Given the description of an element on the screen output the (x, y) to click on. 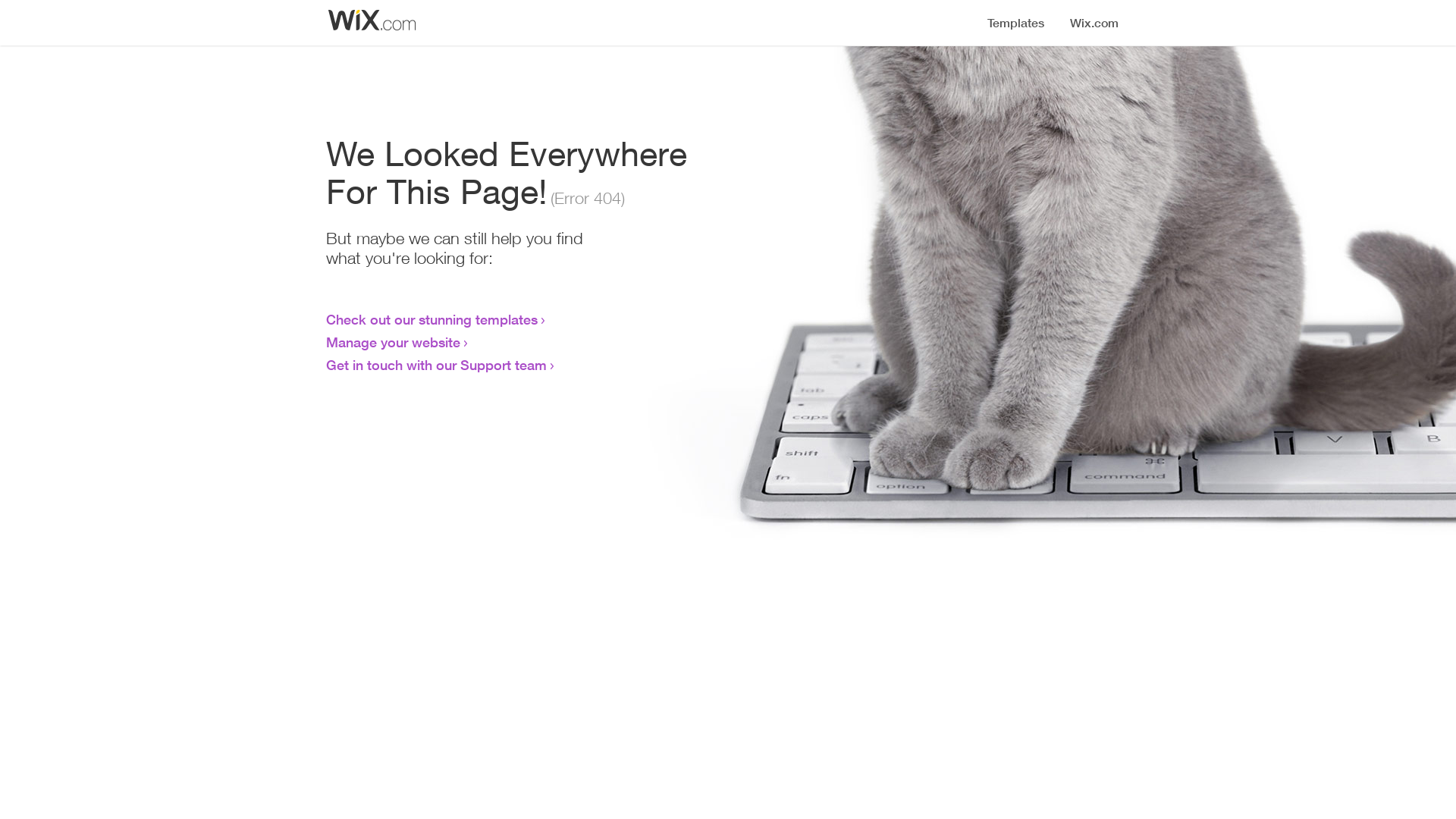
Check out our stunning templates Element type: text (431, 318)
Get in touch with our Support team Element type: text (436, 364)
Manage your website Element type: text (393, 341)
